Given the description of an element on the screen output the (x, y) to click on. 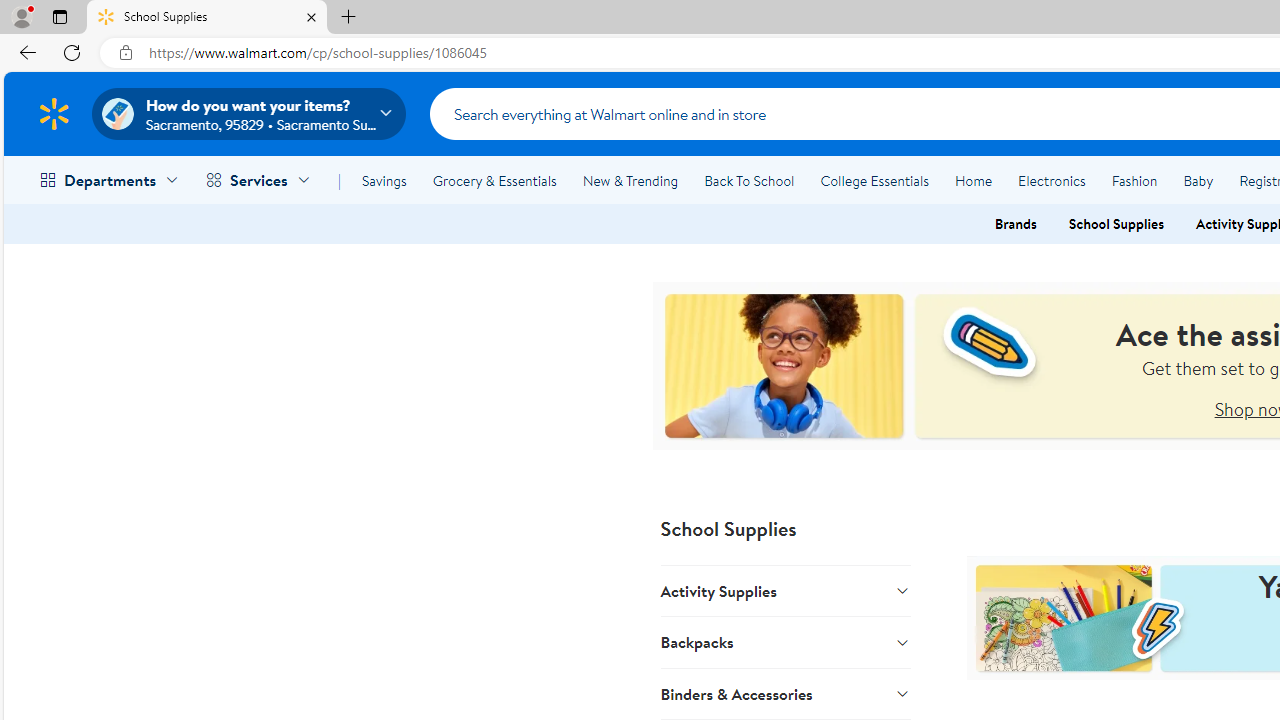
Electronics (1051, 180)
Backpacks (785, 642)
School Supplies (1116, 224)
Savings (384, 180)
Baby (1197, 180)
Activity Supplies (785, 591)
Back To School (749, 180)
Walmart Homepage (53, 113)
